Given the description of an element on the screen output the (x, y) to click on. 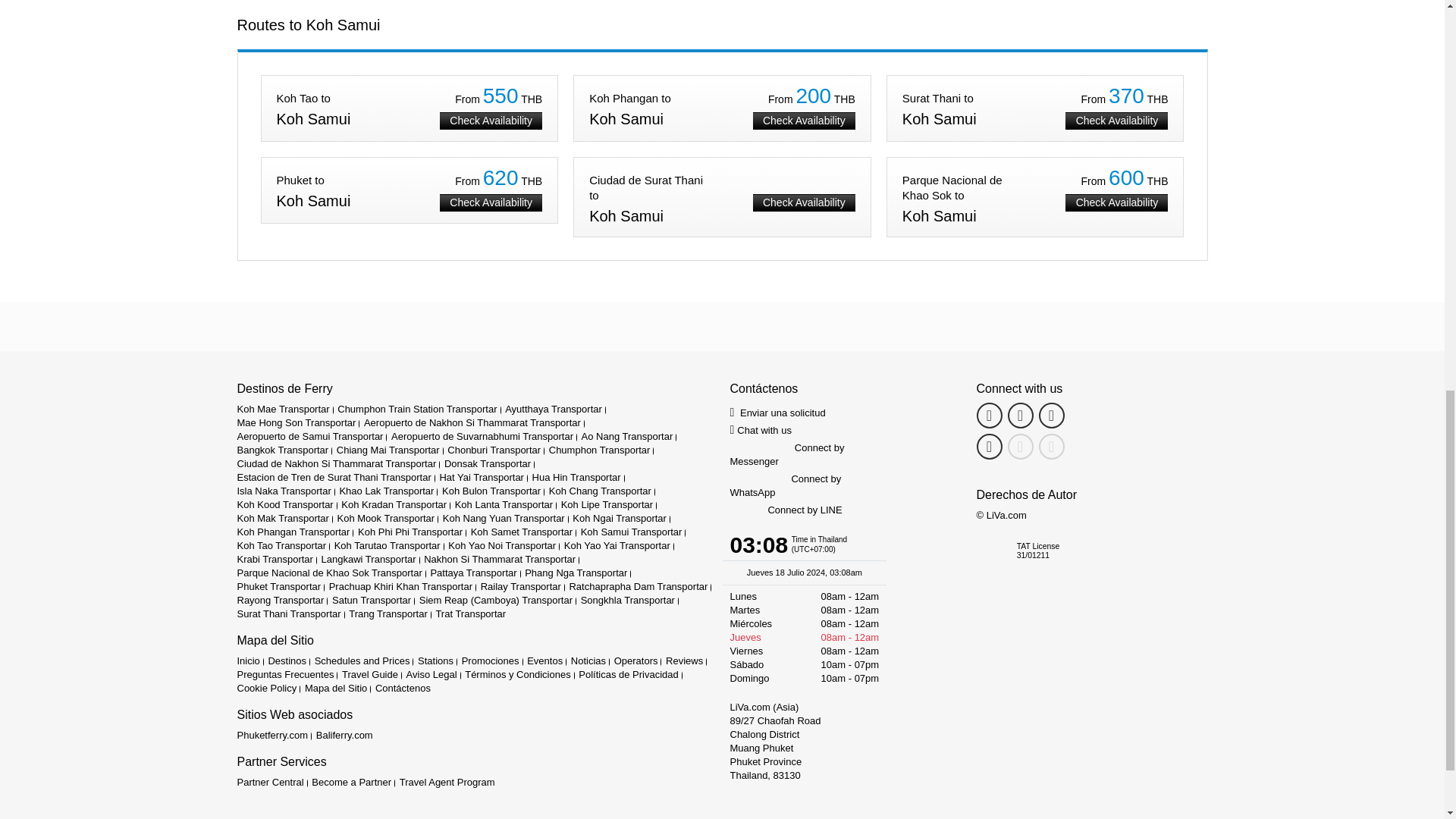
www.phuketferry.com (271, 735)
www.baliferry.com (343, 735)
